Given the description of an element on the screen output the (x, y) to click on. 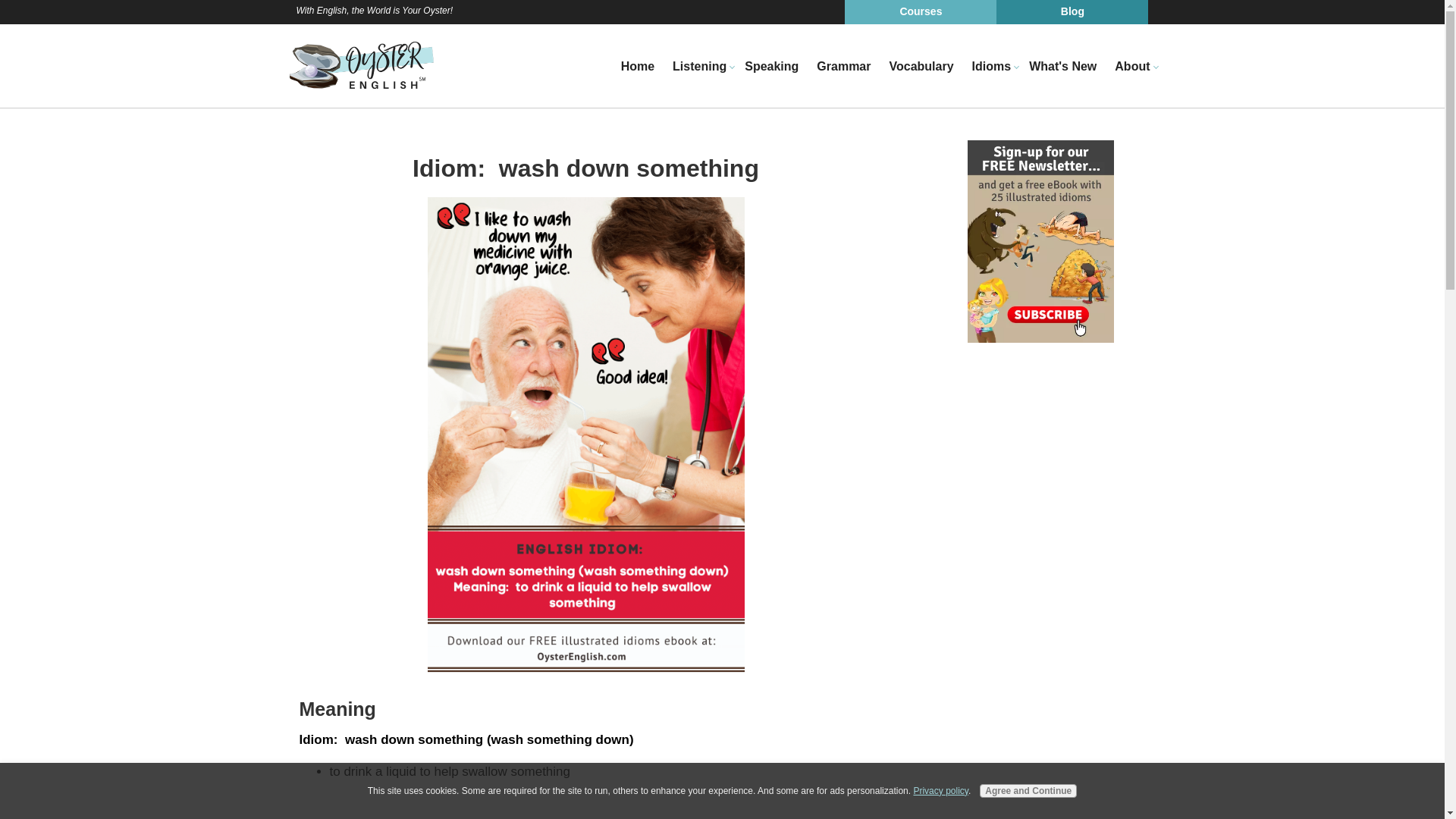
Grammar (843, 66)
Blog (1071, 12)
What's New (1062, 66)
Go to Signup and receive a free idioms ebook (1040, 338)
Vocabulary (920, 66)
Courses (919, 12)
Agree and Continue (1028, 790)
Home (637, 66)
Speaking (771, 66)
Privacy policy (940, 790)
OYSTERENGLISH.COM (360, 65)
